Given the description of an element on the screen output the (x, y) to click on. 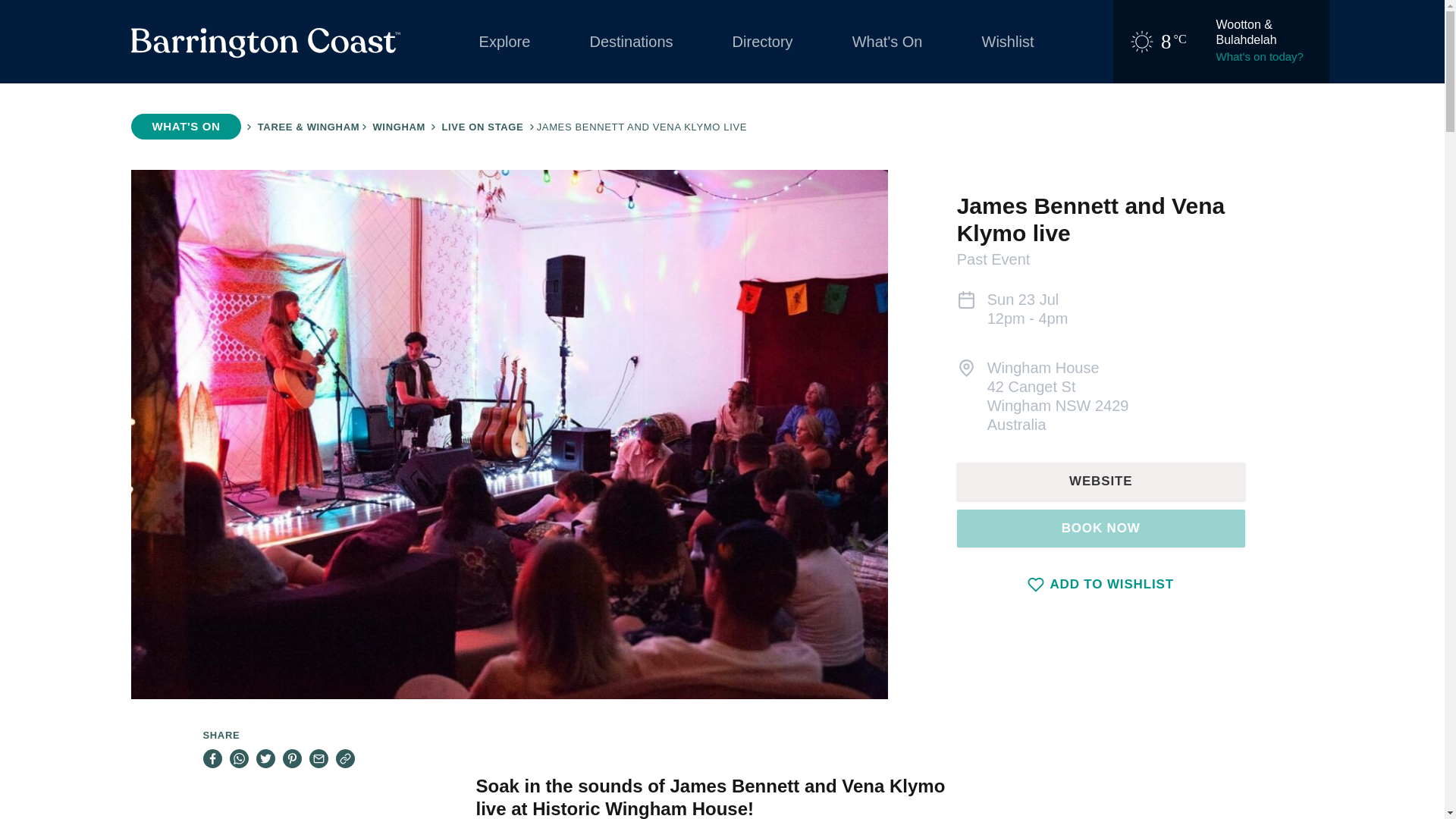
Directory (762, 41)
What's On (887, 41)
Barrington Coast (264, 42)
Home (264, 42)
Explore (503, 41)
Destinations (630, 41)
